Given the description of an element on the screen output the (x, y) to click on. 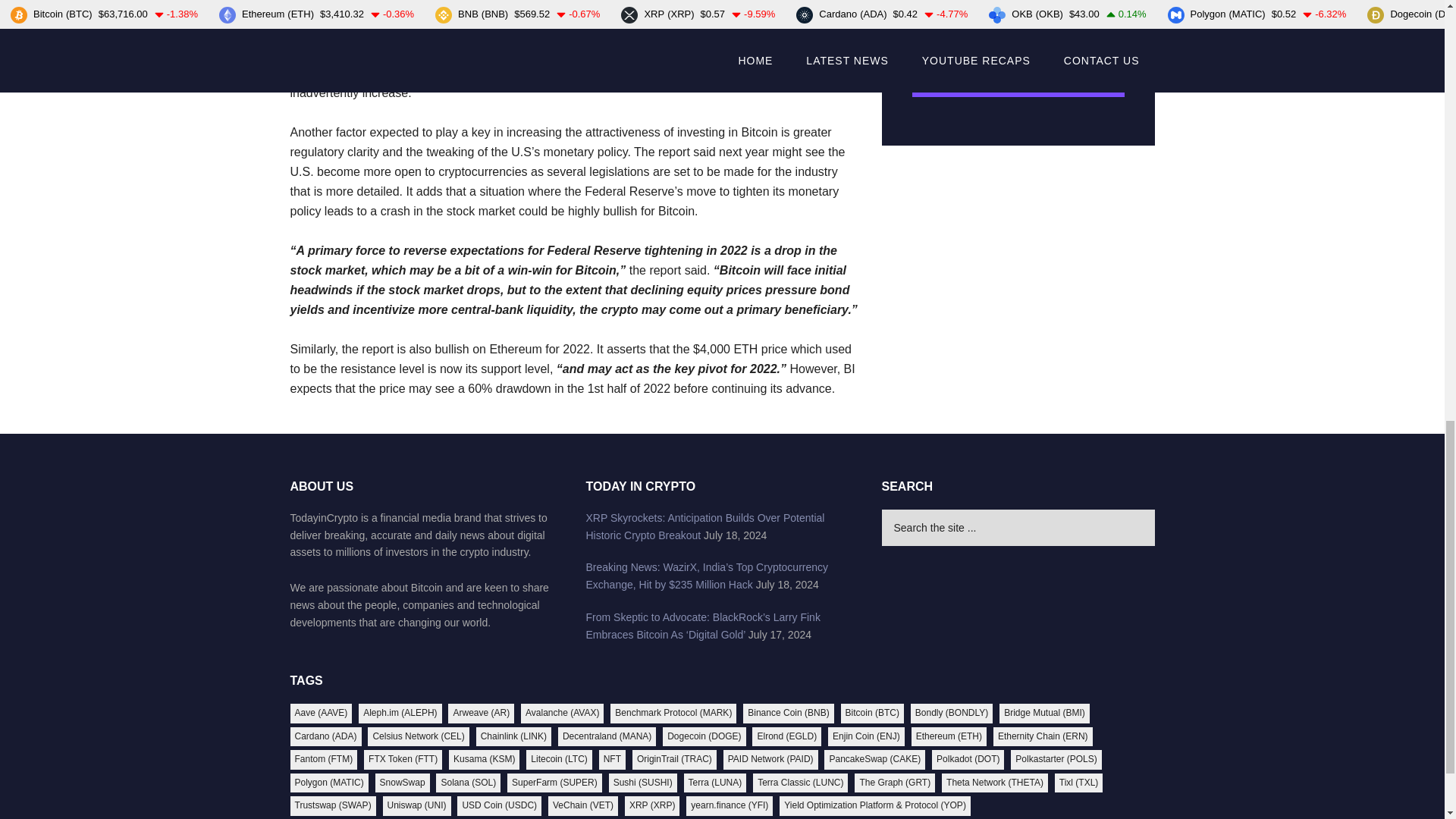
Sign up (1017, 76)
Sign up (1017, 76)
